Given the description of an element on the screen output the (x, y) to click on. 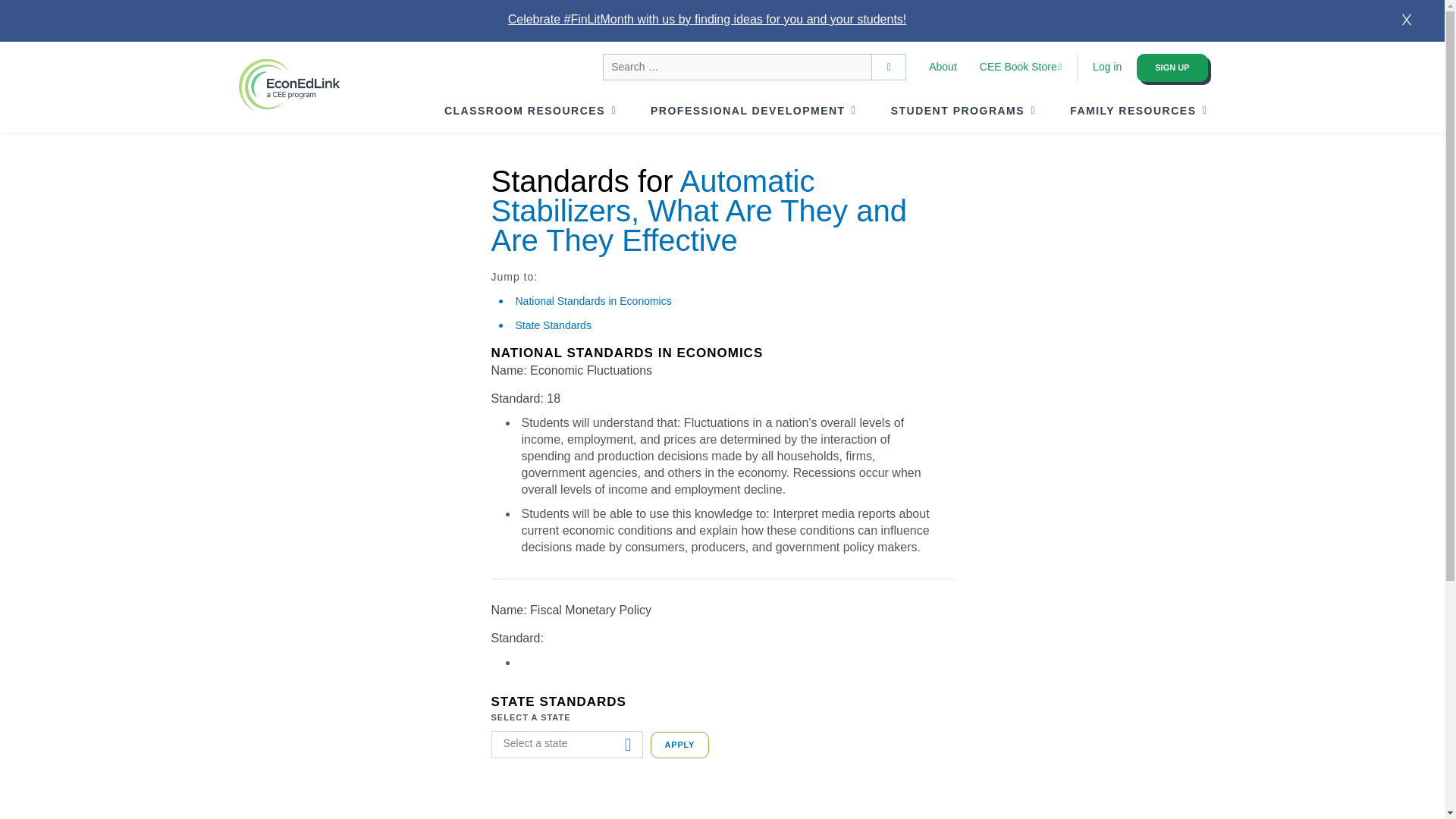
CEE Book Store (1018, 67)
PROFESSIONAL DEVELOPMENT (747, 111)
FAMILY RESOURCES (1132, 111)
CLASSROOM RESOURCES (524, 111)
SIGN UP (1172, 67)
Log in (1107, 67)
Help widget launcher (1368, 784)
About (942, 67)
STUDENT PROGRAMS (958, 111)
Search (888, 67)
